Given the description of an element on the screen output the (x, y) to click on. 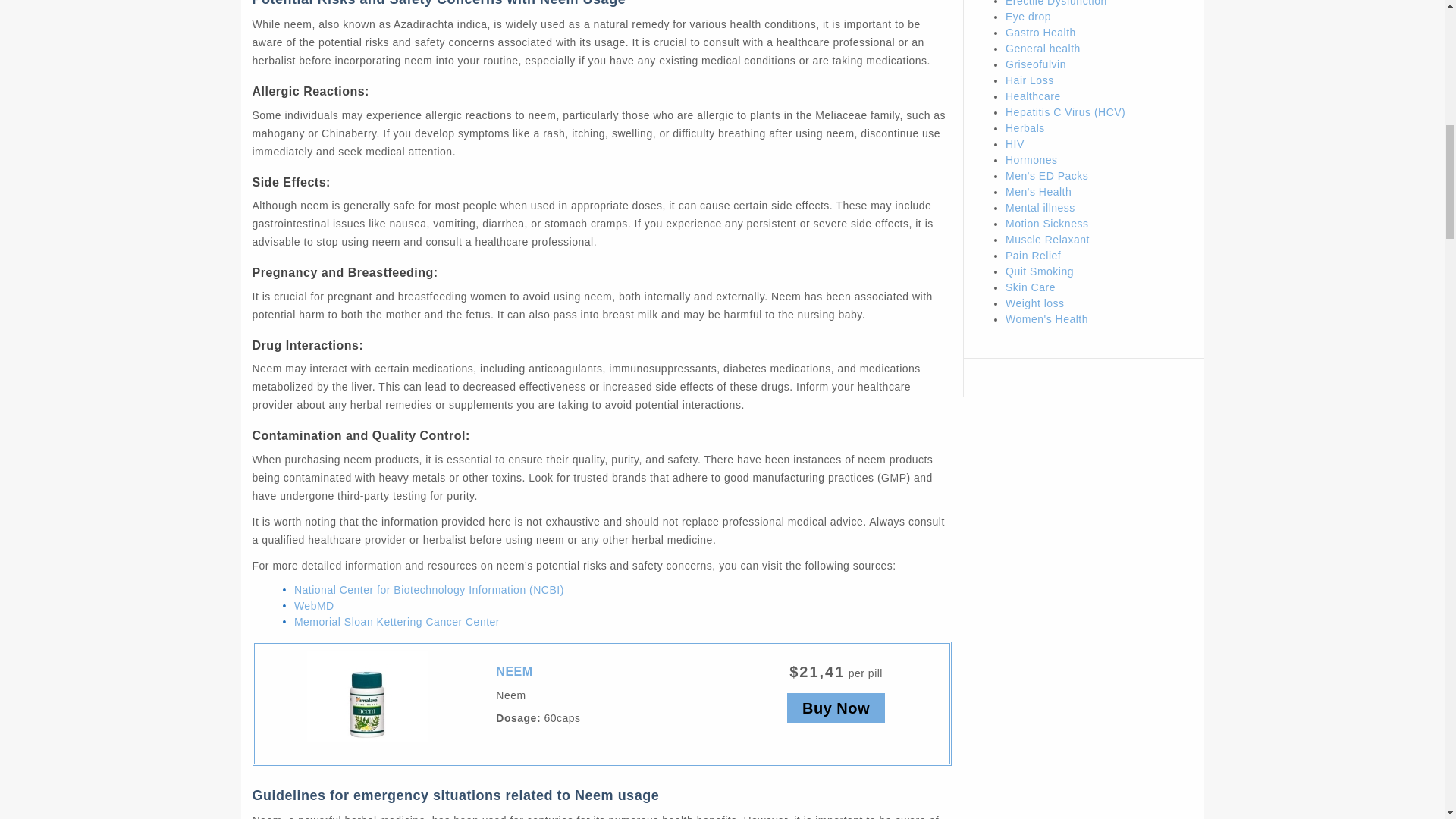
WebMD (314, 605)
Buy Now (836, 707)
Memorial Sloan Kettering Cancer Center (396, 621)
